Given the description of an element on the screen output the (x, y) to click on. 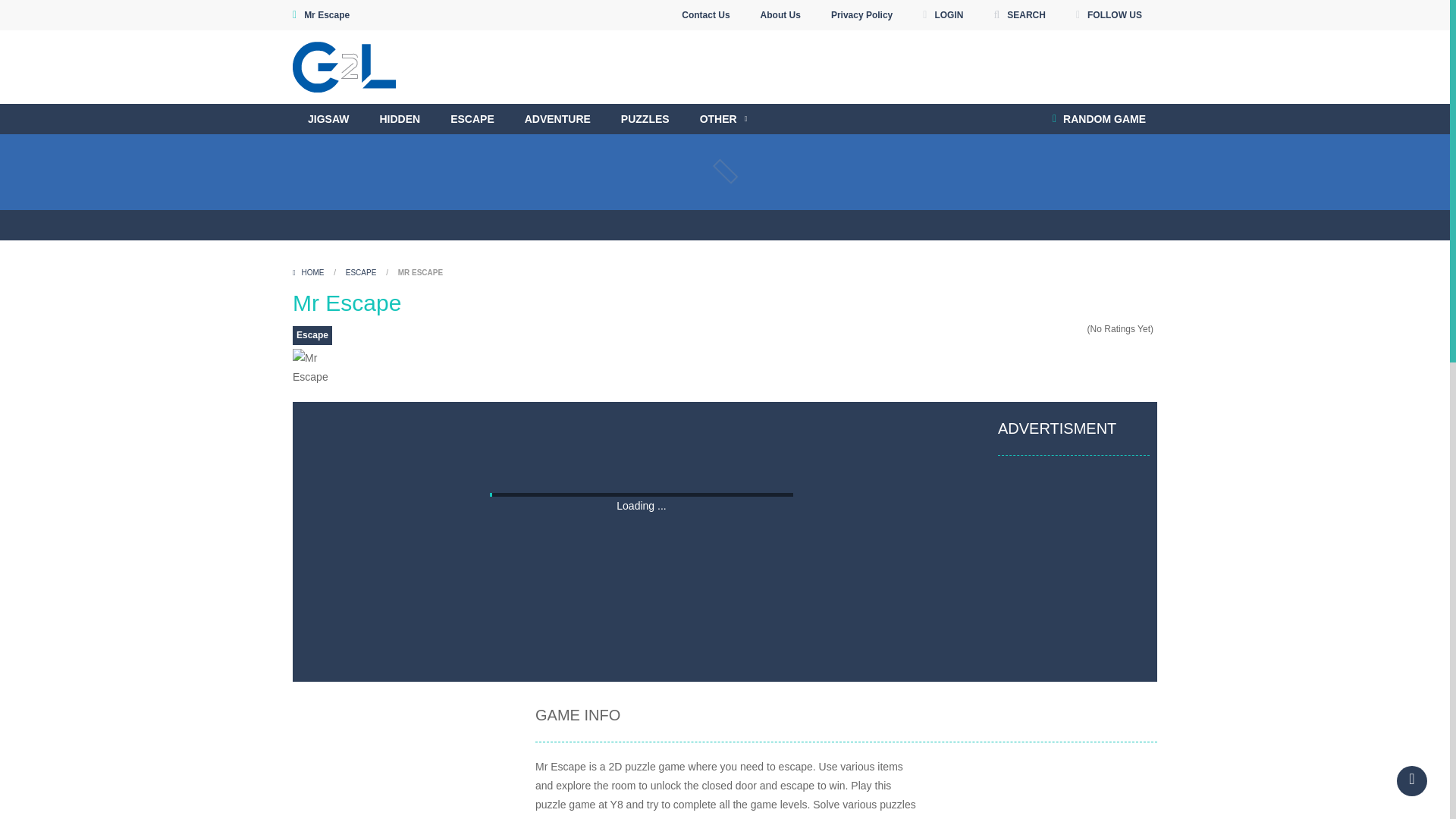
JIGSAW (328, 119)
ADVENTURE (557, 119)
FOLLOW US (1108, 15)
Play a random game! (1099, 119)
Games2Live (344, 66)
ESCAPE (472, 119)
RANDOM GAME (1099, 119)
Games2Live (344, 65)
Privacy Policy (861, 15)
SEARCH (1019, 15)
Contact Us (705, 15)
LOGIN (942, 15)
Escape (311, 334)
HOME (309, 272)
About Us (780, 15)
